Given the description of an element on the screen output the (x, y) to click on. 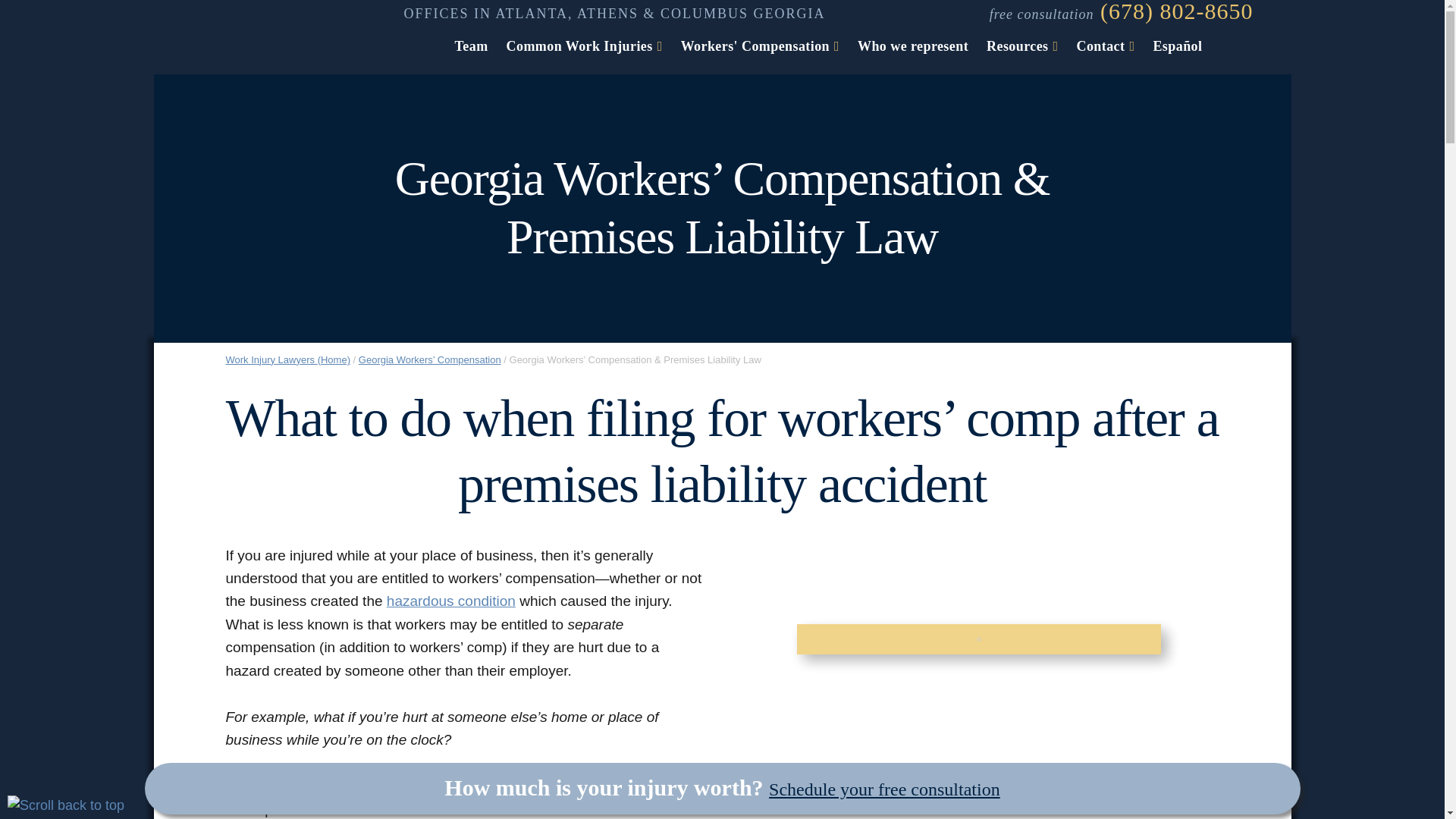
Team (471, 42)
Common Work Injuries (584, 42)
Who we represent (912, 42)
Contact (1105, 42)
Scroll back to top (65, 804)
hazardous condition (451, 600)
Workers' Compensation (759, 42)
Resources (1021, 42)
